Given the description of an element on the screen output the (x, y) to click on. 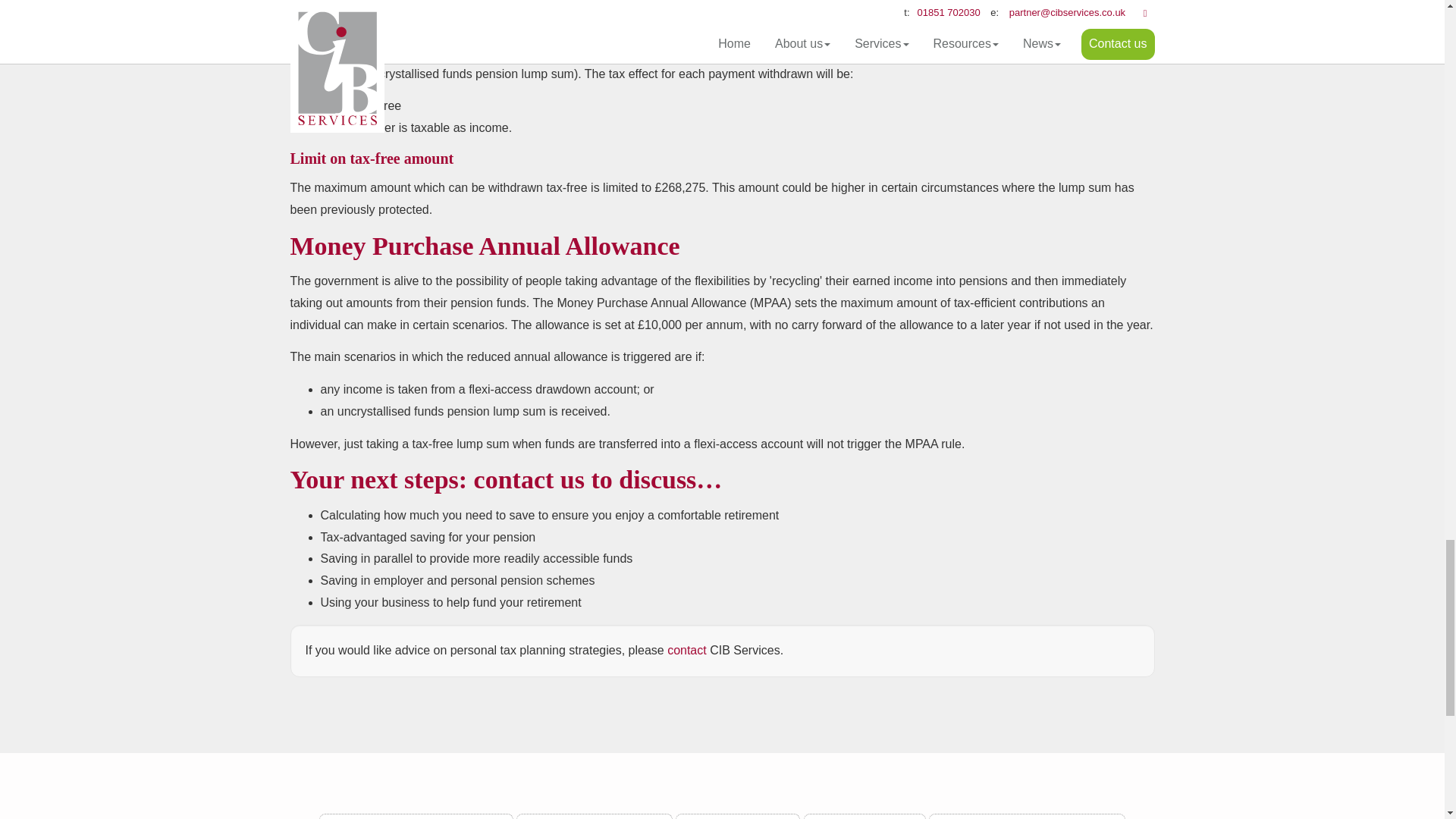
Tax and employment (864, 816)
Strategies for your business (594, 816)
Planning for yourself and your family (1026, 816)
contact (686, 649)
Exiting your business (737, 816)
